Given the description of an element on the screen output the (x, y) to click on. 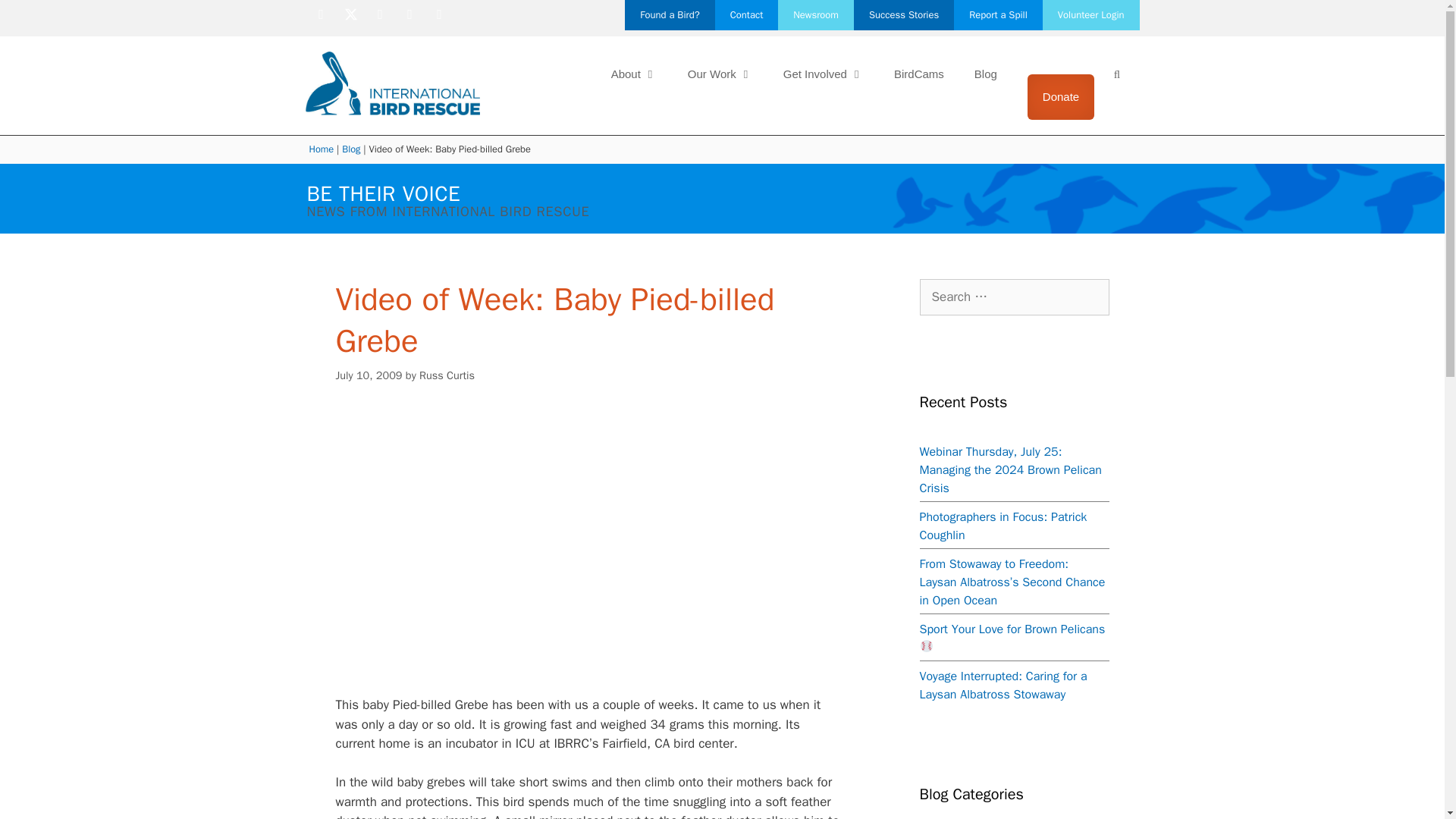
Volunteer Login (1091, 15)
Our Work (720, 74)
Get Involved (823, 74)
View all posts by Russ Curtis (446, 375)
Search for: (1013, 297)
Found a Bird? (669, 15)
Success Stories (903, 15)
BirdCams (919, 74)
Report a Spill (997, 15)
Contact (746, 15)
About (633, 74)
Newsroom (815, 15)
